Given the description of an element on the screen output the (x, y) to click on. 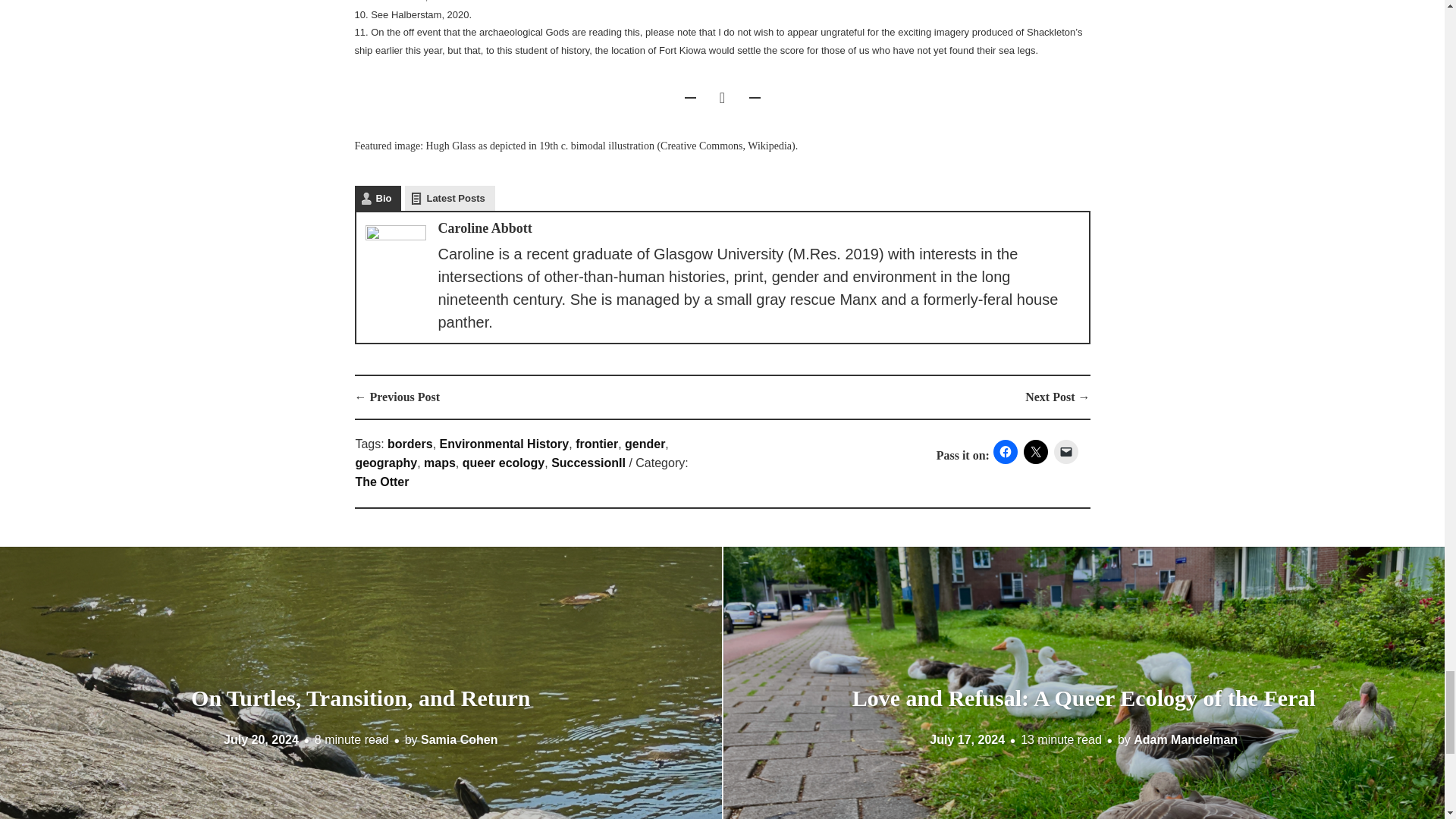
Click to share on X (1035, 451)
9:00 am (261, 739)
10:51 am (967, 739)
Click to share on Facebook (1004, 451)
Click to email a link to a friend (1066, 451)
